Given the description of an element on the screen output the (x, y) to click on. 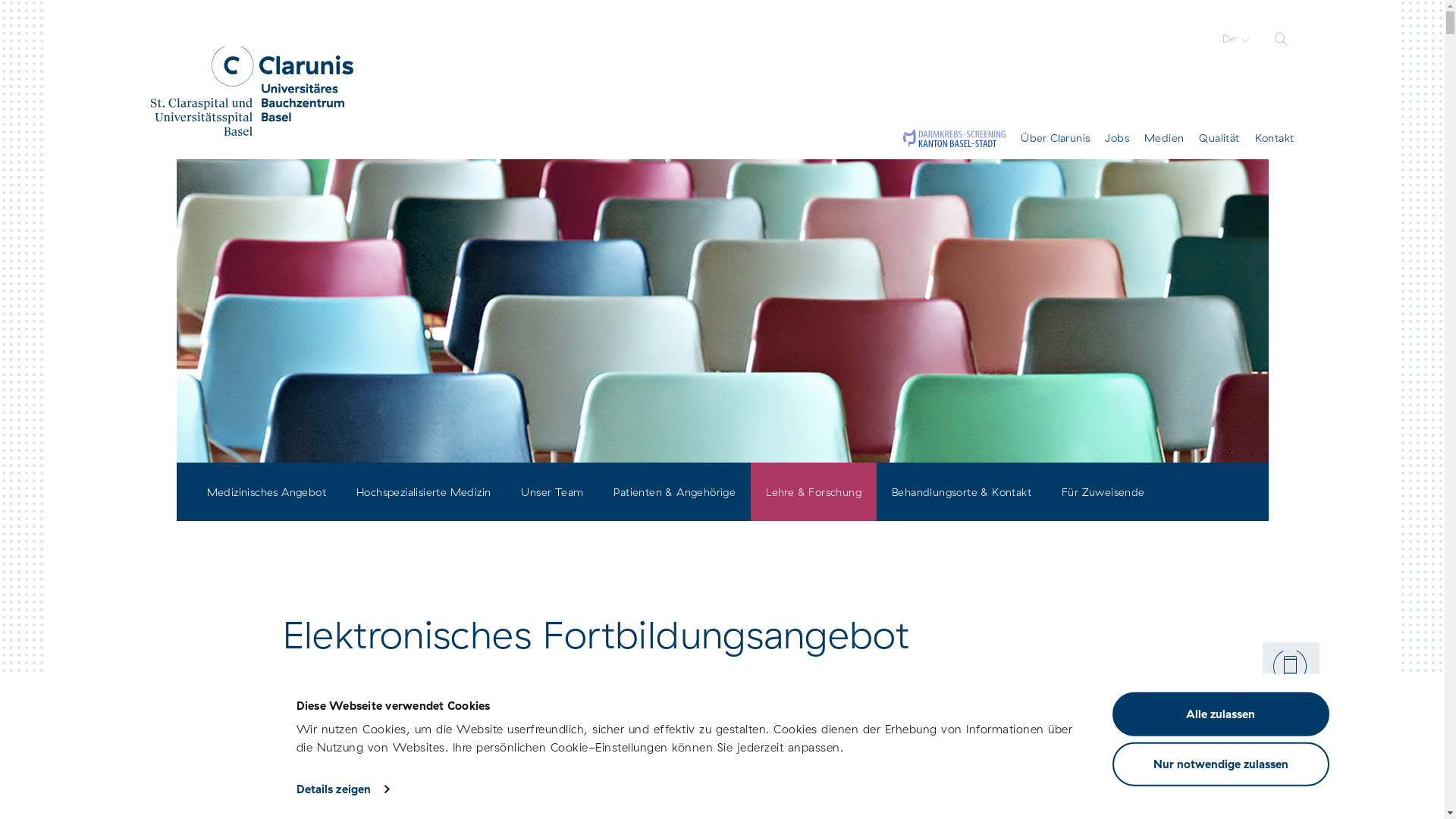
Unser Team Element type: text (551, 491)
De Element type: text (1236, 38)
Hochspezialisierte Medizin Element type: text (423, 491)
Alle zulassen Element type: text (1219, 714)
Medien Element type: text (1163, 137)
Details zeigen Element type: text (342, 789)
Lehre & Forschung Element type: text (813, 491)
Medizinisches Angebot Element type: text (265, 491)
Kontakt Element type: text (1274, 137)
template_clarunis Element type: hover (251, 90)
Behandlungsorte & Kontakt Element type: text (961, 491)
Nur notwendige zulassen Element type: text (1219, 763)
Jobs Element type: text (1116, 137)
